Given the description of an element on the screen output the (x, y) to click on. 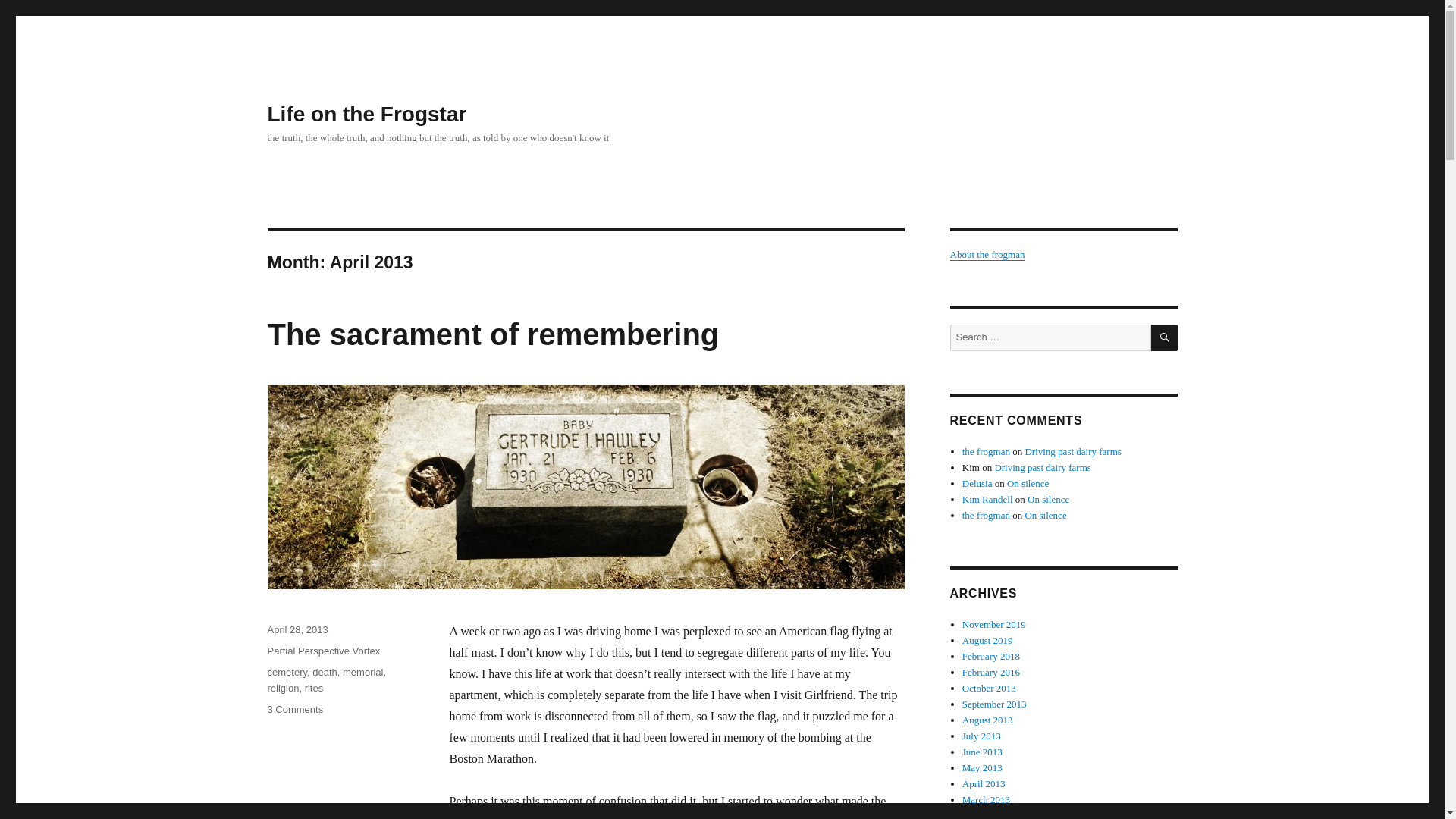
Partial Perspective Vortex (323, 650)
The sacrament of remembering (492, 334)
cemetery (294, 708)
Life on the Frogstar (286, 672)
death (365, 114)
religion (325, 672)
April 28, 2013 (282, 687)
memorial (296, 629)
rites (362, 672)
